Given the description of an element on the screen output the (x, y) to click on. 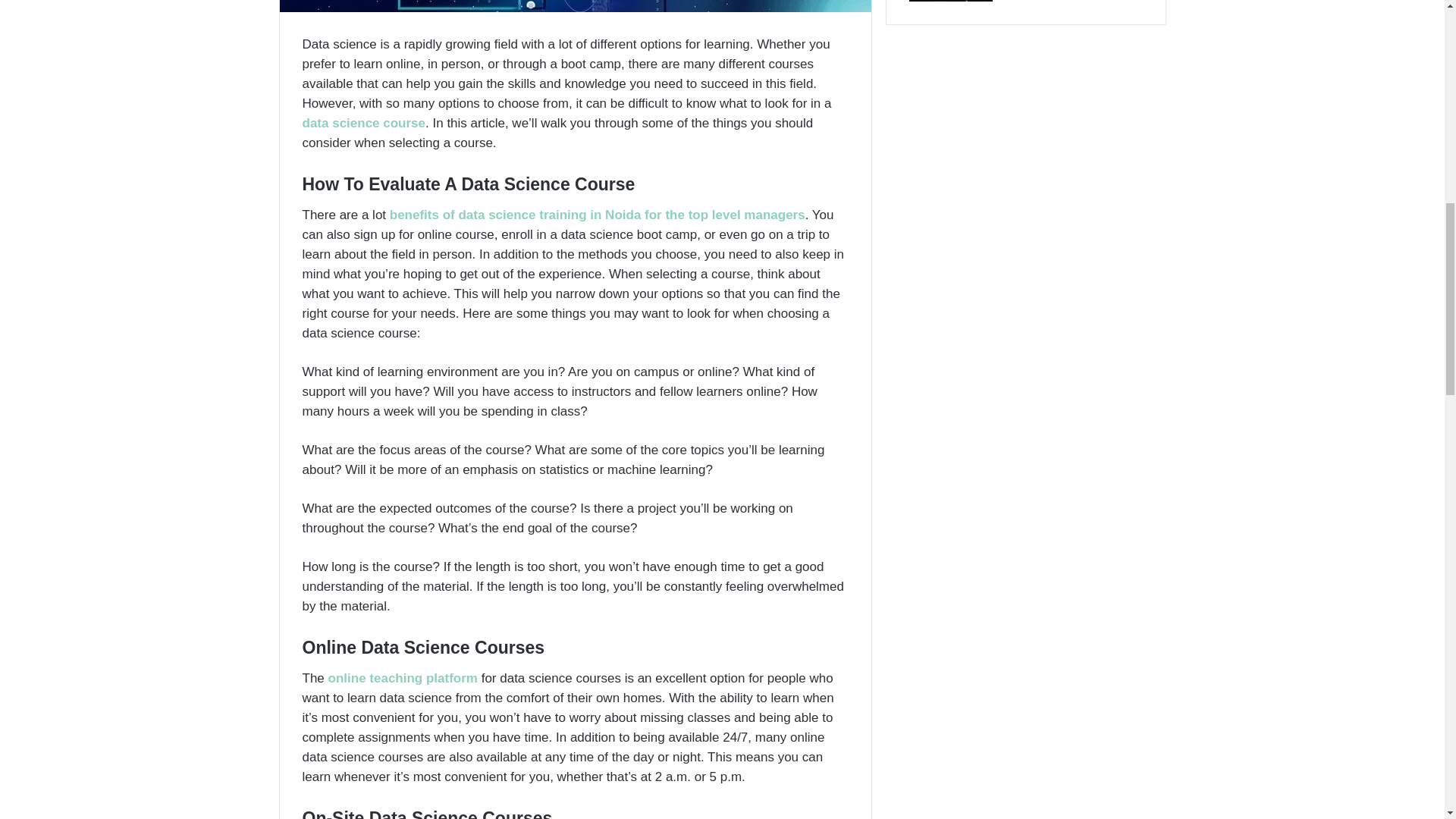
online teaching platform (403, 677)
data science course (363, 123)
